Given the description of an element on the screen output the (x, y) to click on. 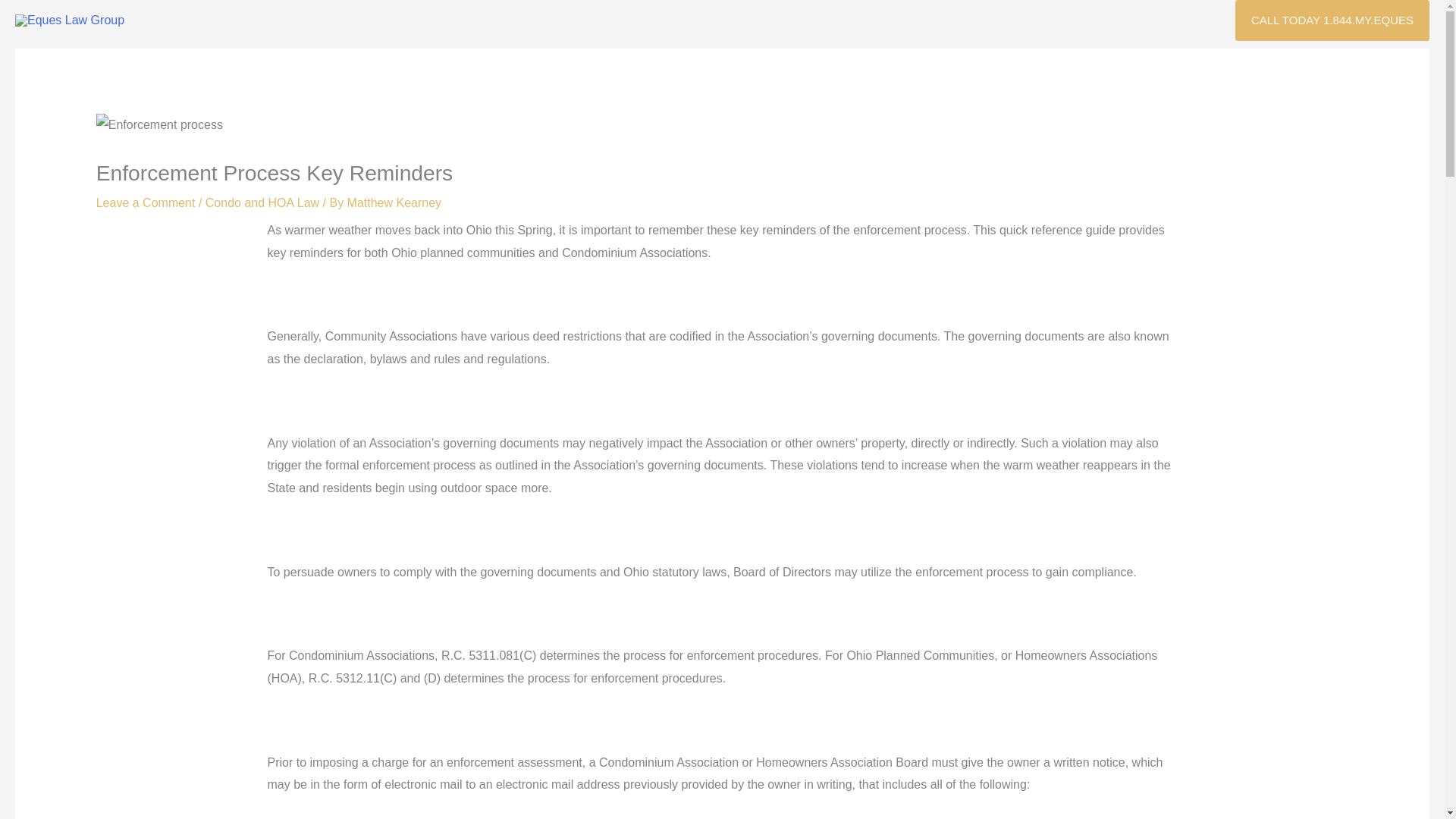
About (847, 67)
Careers (1280, 67)
Make a Payment (1189, 67)
Our Team (914, 67)
Practice Areas (1004, 67)
CALL TODAY 1.844.MY.EQUES (1331, 20)
Matthew Kearney (394, 202)
Locations (1093, 67)
Leave a Comment (145, 202)
Blog (1338, 67)
Condo and HOA Law (261, 202)
Contact (1395, 67)
View all posts by Matthew Kearney (394, 202)
